Given the description of an element on the screen output the (x, y) to click on. 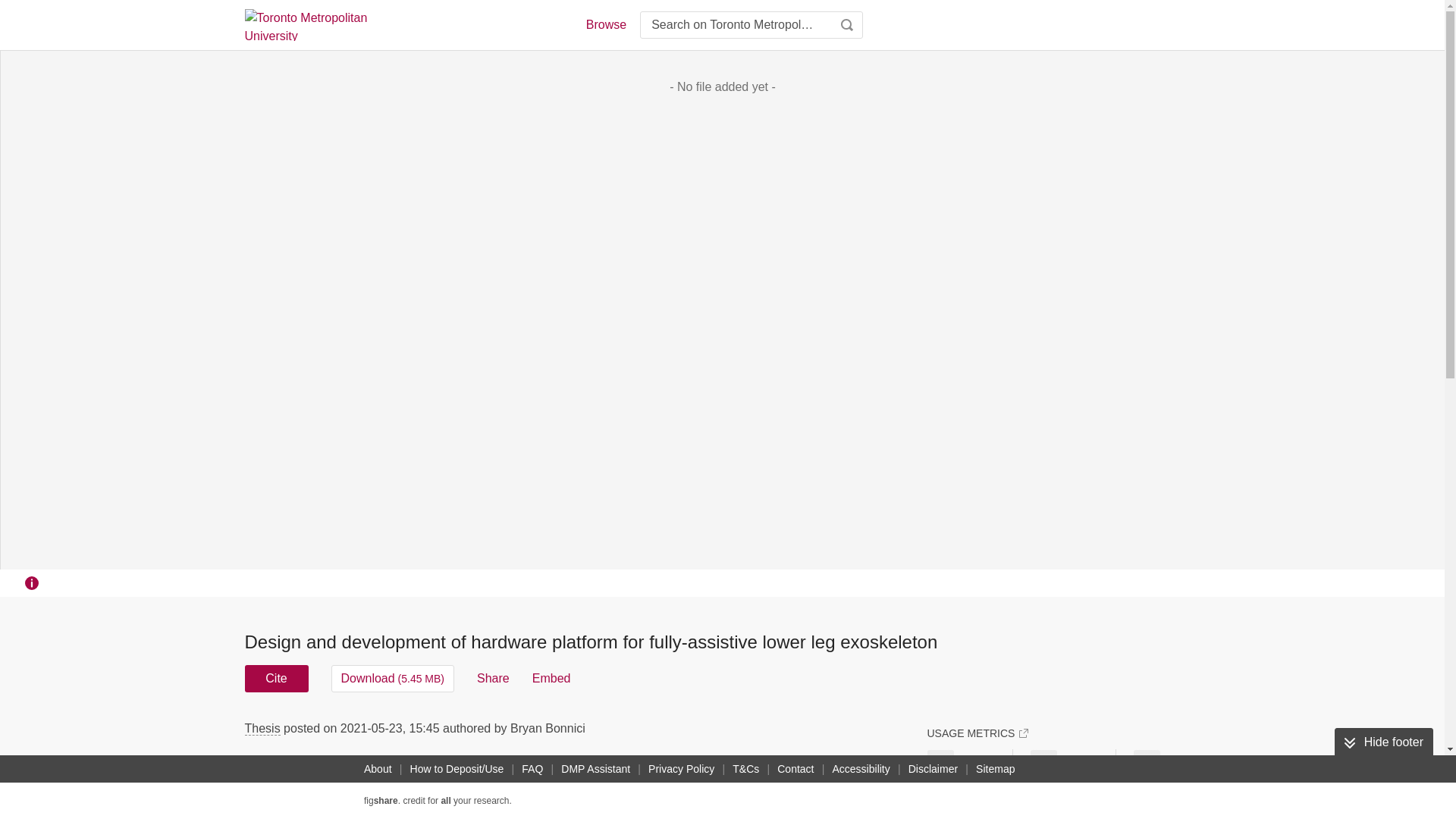
Embed (551, 678)
Cite (275, 678)
Share (493, 678)
Privacy Policy (681, 769)
Sitemap (995, 769)
Disclaimer (933, 769)
Accessibility (861, 769)
Hide footer (1383, 742)
DMP Assistant (595, 769)
USAGE METRICS (976, 732)
About (377, 769)
FAQ (531, 769)
Contact (795, 769)
Browse (605, 24)
